Given the description of an element on the screen output the (x, y) to click on. 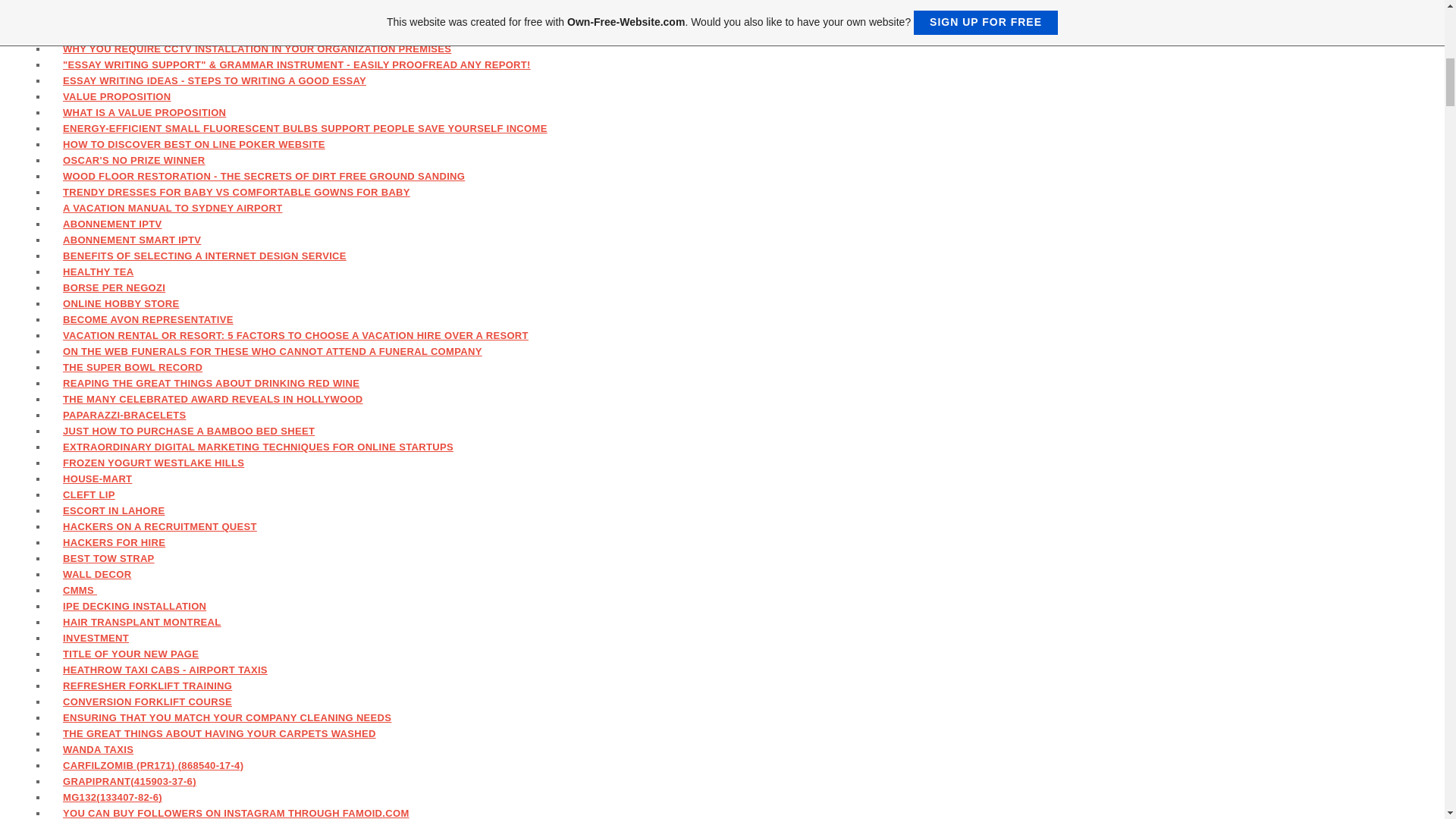
ESSAY WRITING IDEAS - STEPS TO WRITING A GOOD ESSAY (214, 80)
HOW TO DISCOVER BEST ON LINE POKER WEBSITE (194, 143)
VALUE PROPOSITION (117, 95)
WHAT IS A VALUE PROPOSITION (144, 112)
